Given the description of an element on the screen output the (x, y) to click on. 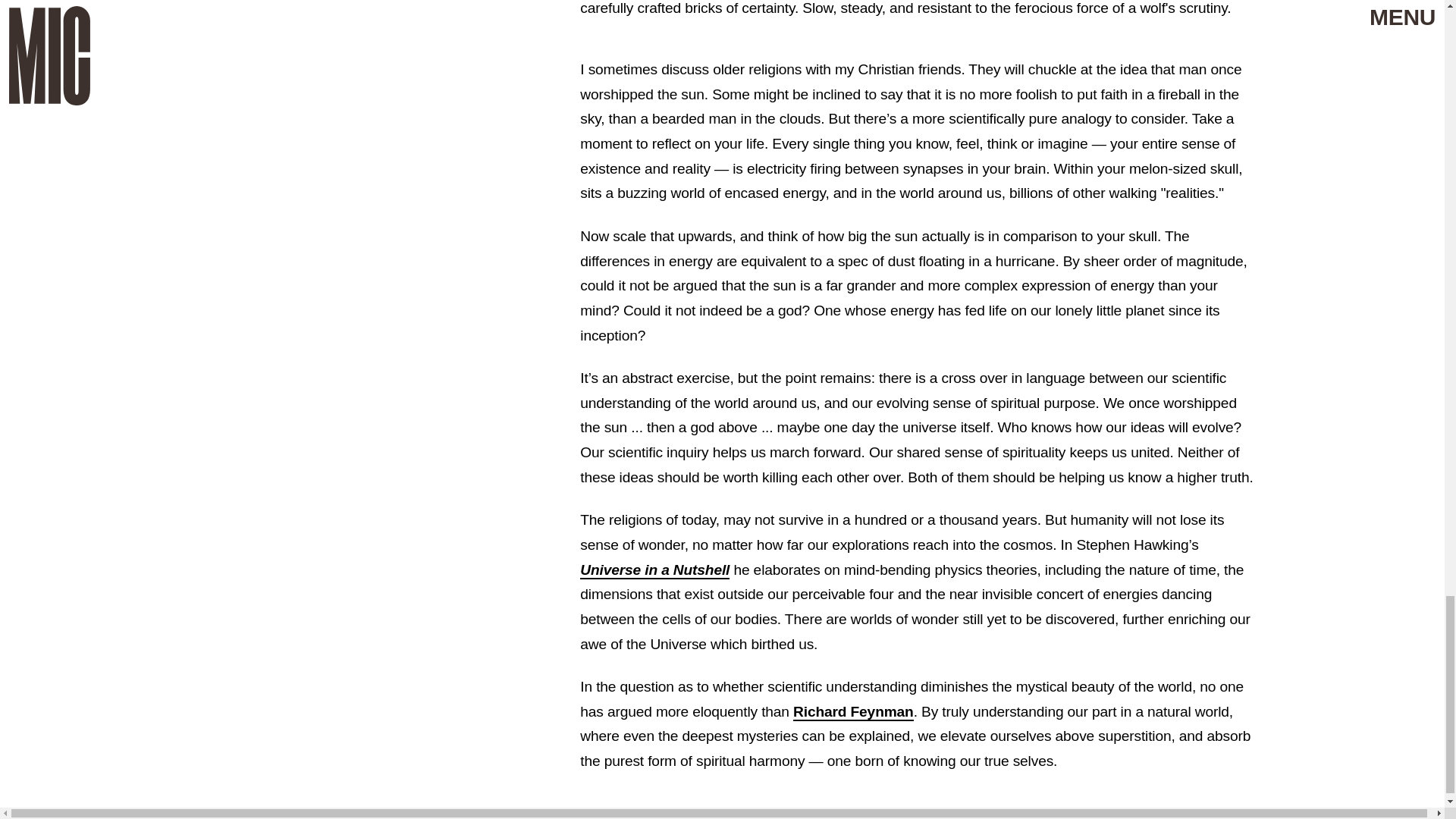
Universe in a Nutshell (654, 570)
Richard Feynman (853, 712)
